Given the description of an element on the screen output the (x, y) to click on. 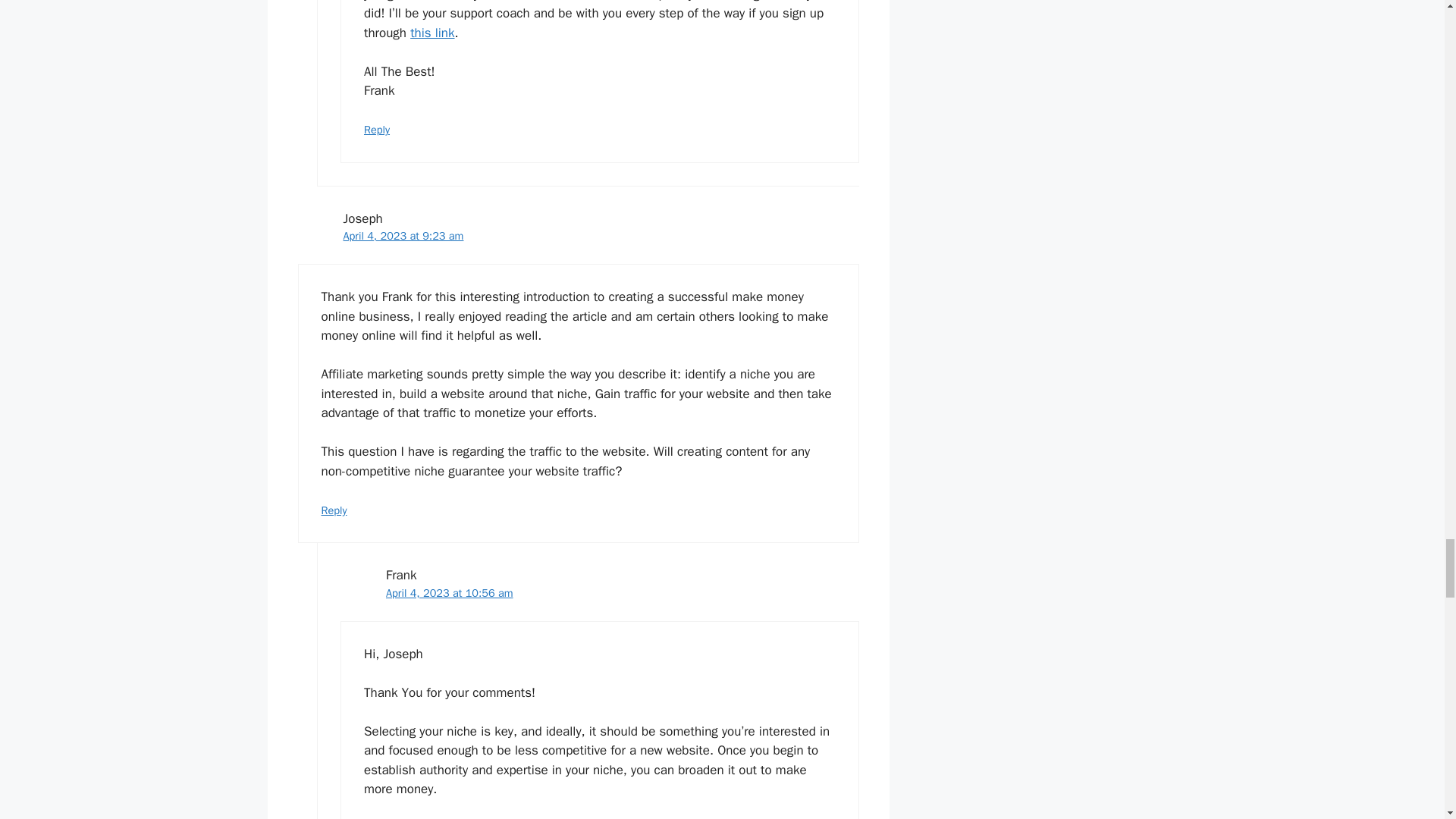
Reply (377, 129)
this link (432, 32)
Reply (334, 509)
April 4, 2023 at 10:56 am (449, 592)
this link (432, 32)
April 4, 2023 at 9:23 am (402, 235)
